Given the description of an element on the screen output the (x, y) to click on. 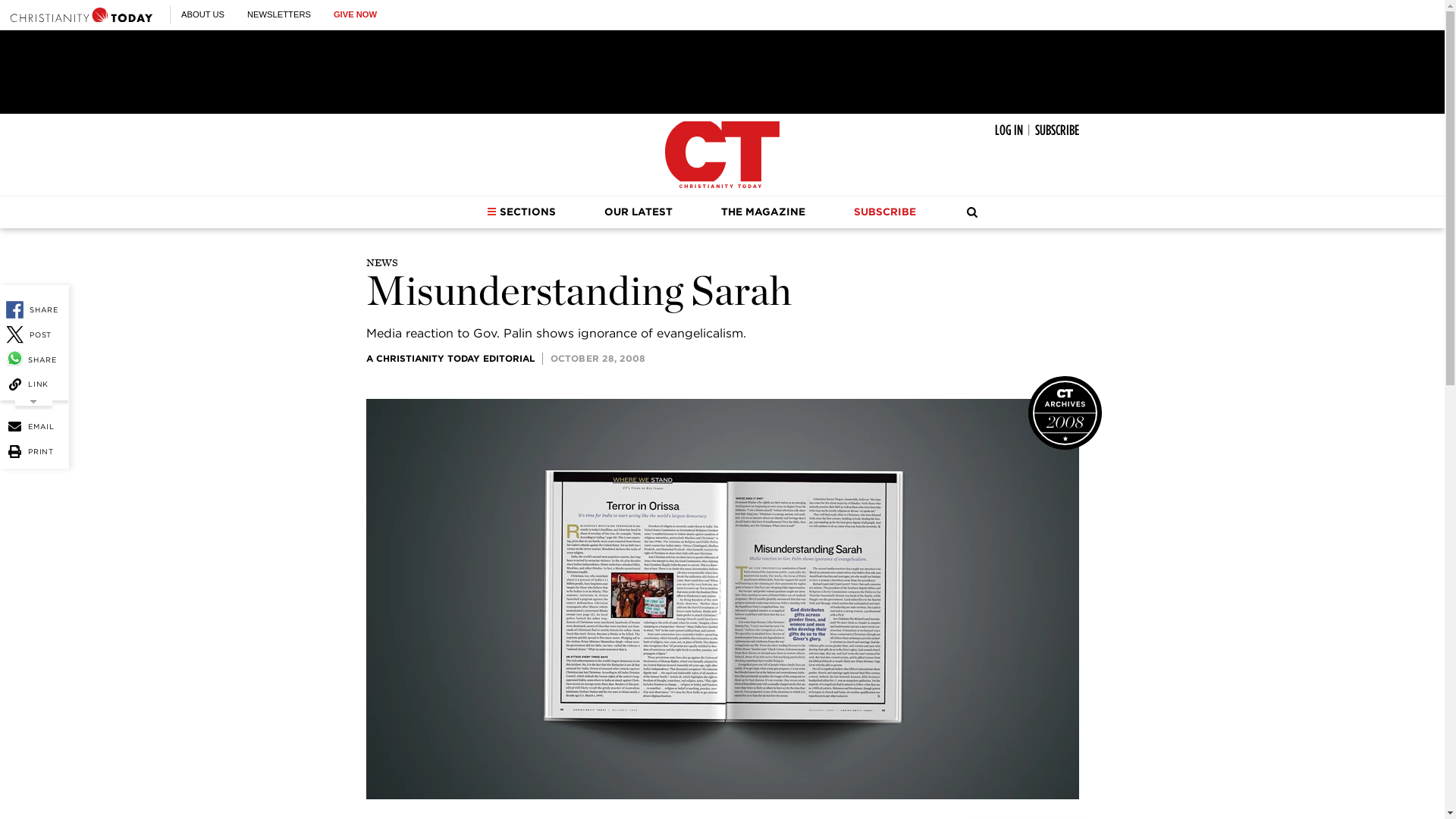
Christianity Today (81, 14)
Sections Dropdown (491, 211)
3rd party ad content (721, 71)
GIVE NOW (355, 14)
LOG IN (1008, 130)
SECTIONS (521, 212)
SUBSCRIBE (1055, 130)
NEWSLETTERS (278, 14)
ABOUT US (202, 14)
Christianity Today (721, 154)
